Given the description of an element on the screen output the (x, y) to click on. 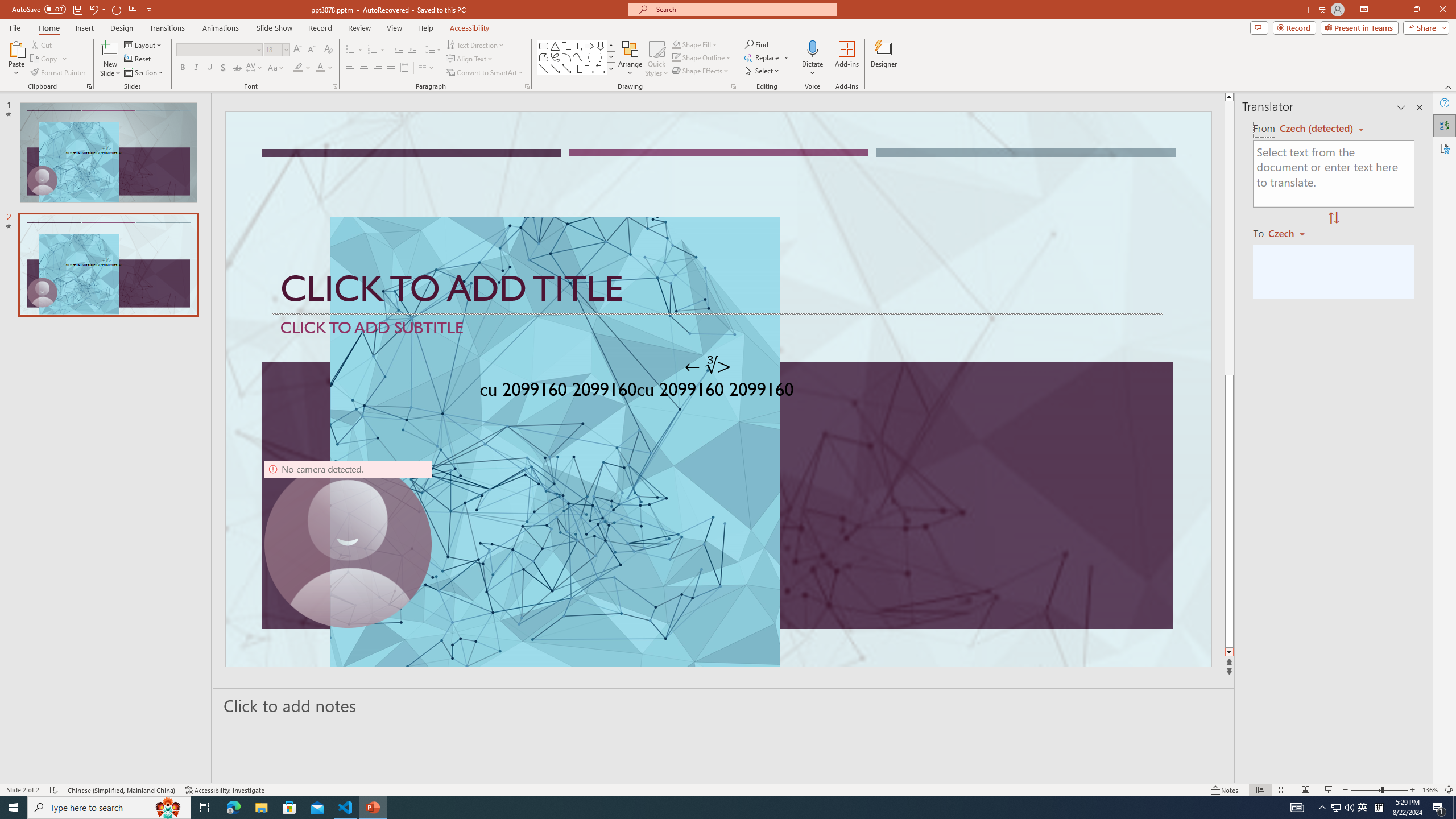
Subtitle TextBox (717, 337)
Shape Outline Green, Accent 1 (675, 56)
